Given the description of an element on the screen output the (x, y) to click on. 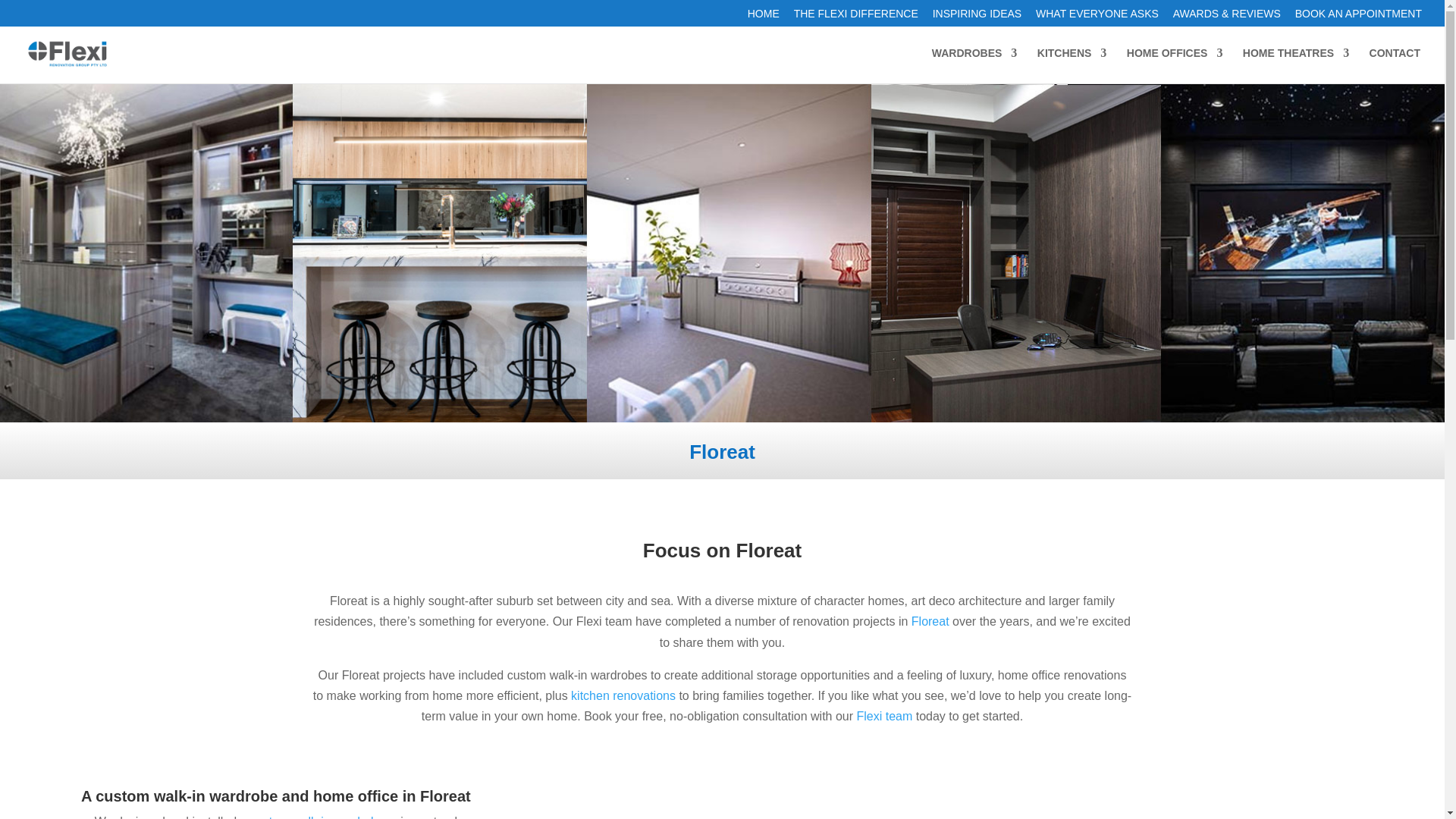
WHAT EVERYONE ASKS (1096, 16)
custom walk-in wardrobe (317, 816)
KITCHENS (1071, 65)
INSPIRING IDEAS (977, 16)
A custom walk-in wardrobe and home office in Floreat (275, 795)
Floreat (930, 621)
BOOK AN APPOINTMENT (1358, 16)
WARDROBES (974, 65)
THE FLEXI DIFFERENCE (855, 16)
kitchen renovations (622, 695)
HOME OFFICES (1174, 65)
HOME THEATRES (1296, 65)
HOME (763, 16)
CONTACT (1395, 65)
Flexi team (884, 716)
